Given the description of an element on the screen output the (x, y) to click on. 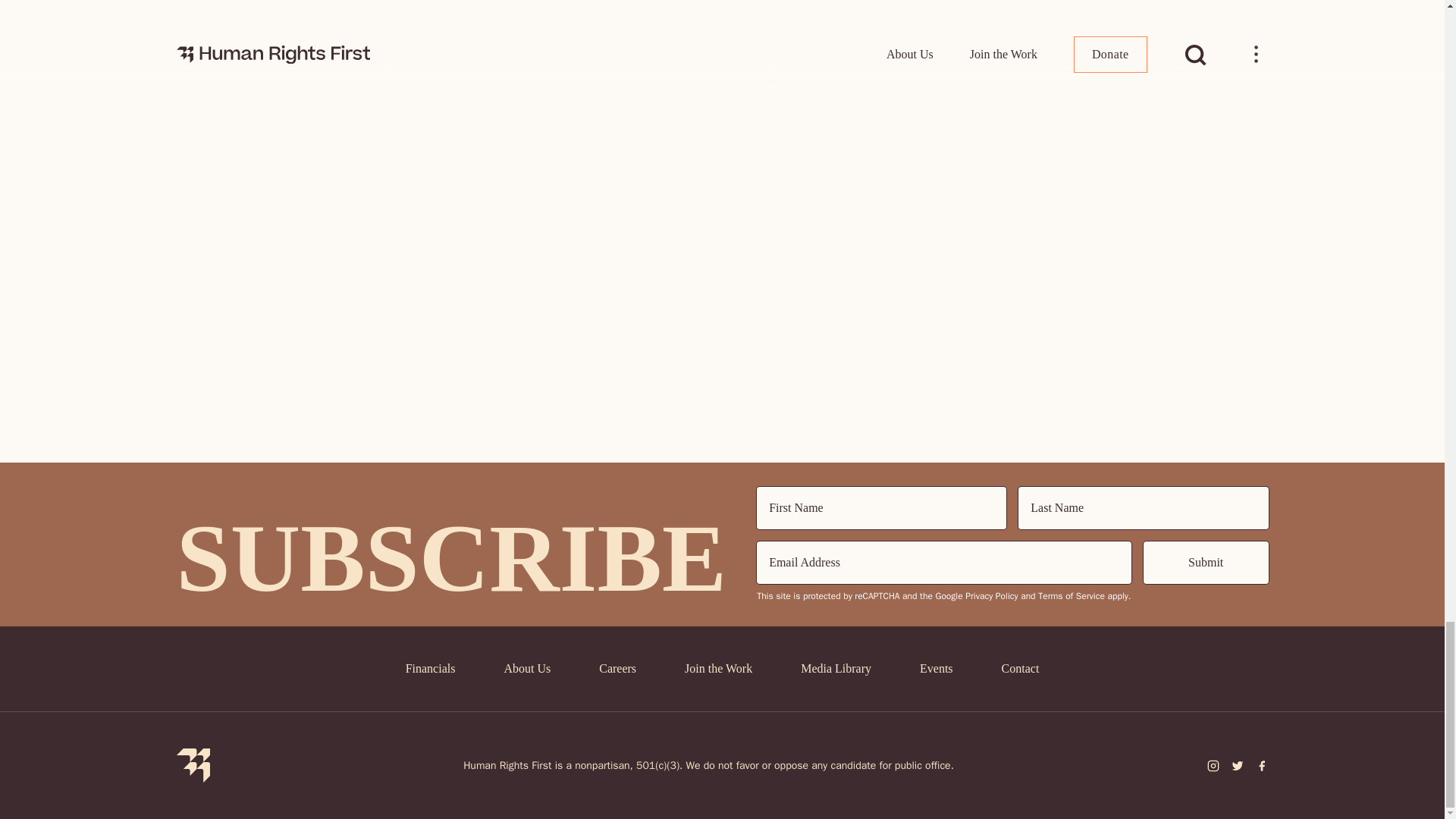
Submit (1205, 562)
